Given the description of an element on the screen output the (x, y) to click on. 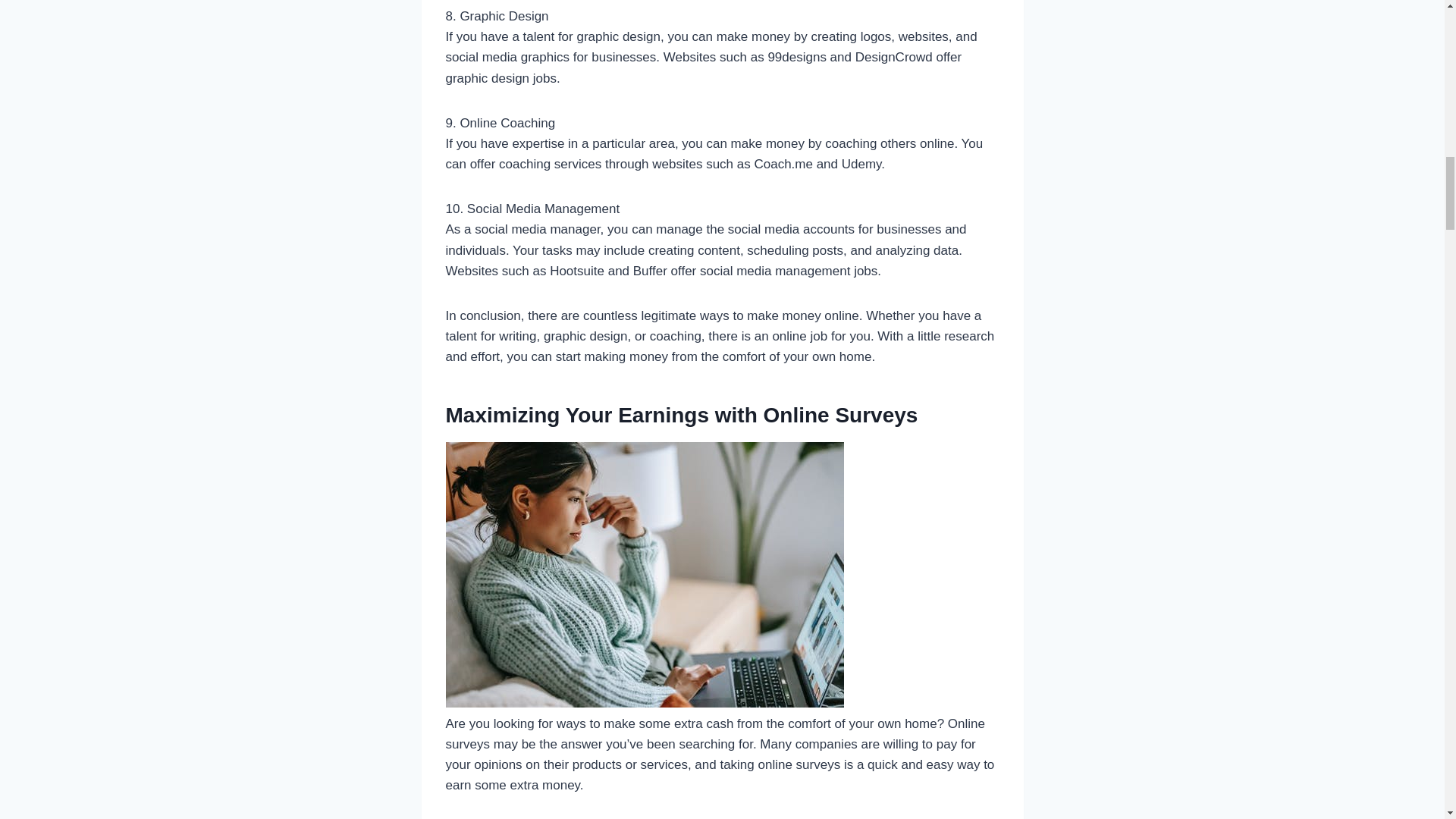
Make Money Online Jobs 2 (644, 574)
